Given the description of an element on the screen output the (x, y) to click on. 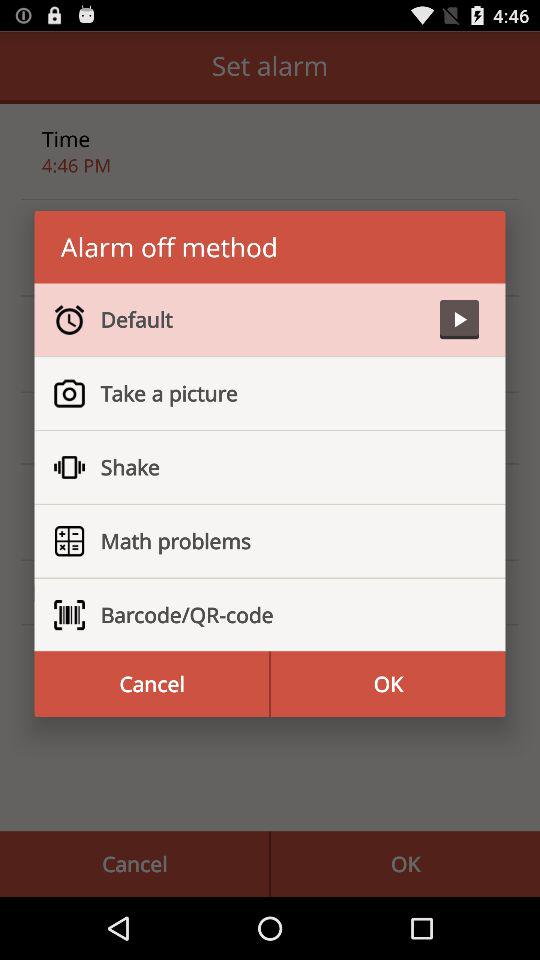
tap icon above the take a picture (262, 319)
